Given the description of an element on the screen output the (x, y) to click on. 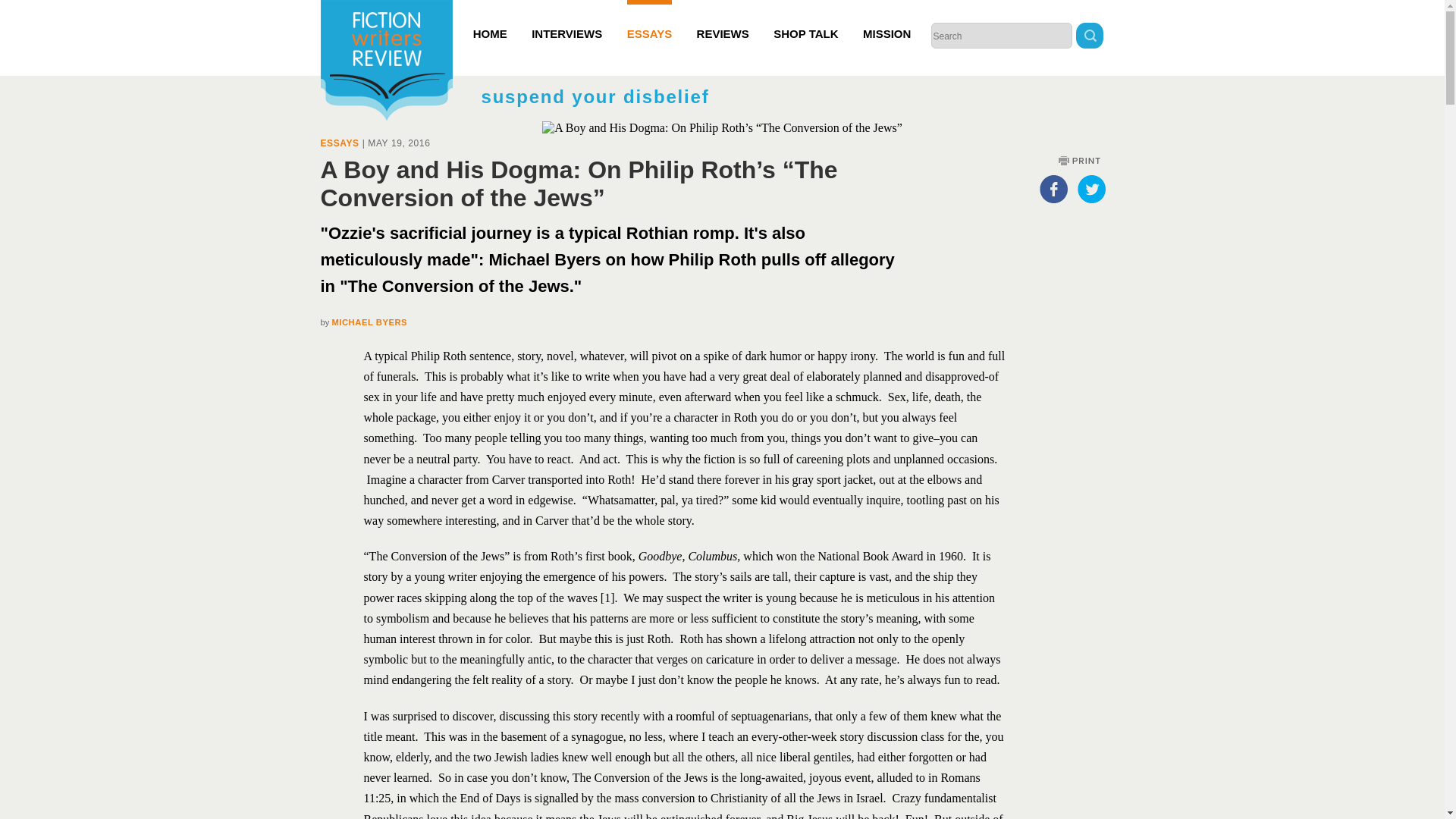
Share on Facebook (1053, 188)
Share on Twitter (1091, 188)
INTERVIEWS (566, 20)
MICHAEL BYERS (369, 321)
REVIEWS (723, 20)
SHOP TALK (805, 20)
ESSAYS (339, 143)
MISSION (887, 20)
Return home (385, 61)
Search (1088, 36)
ESSAYS (649, 20)
